Given the description of an element on the screen output the (x, y) to click on. 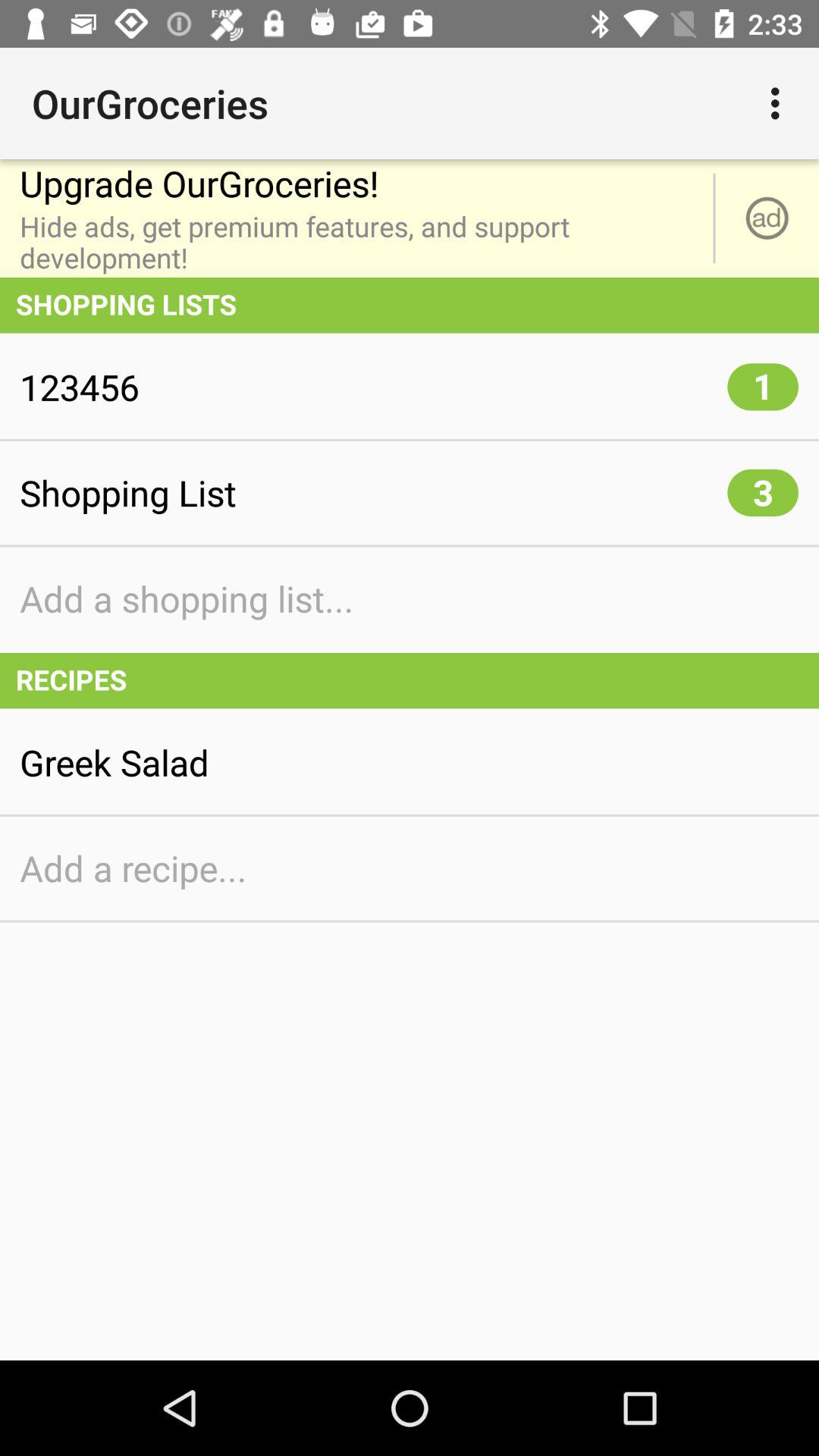
tap item next to upgrade ourgroceries! (779, 103)
